Given the description of an element on the screen output the (x, y) to click on. 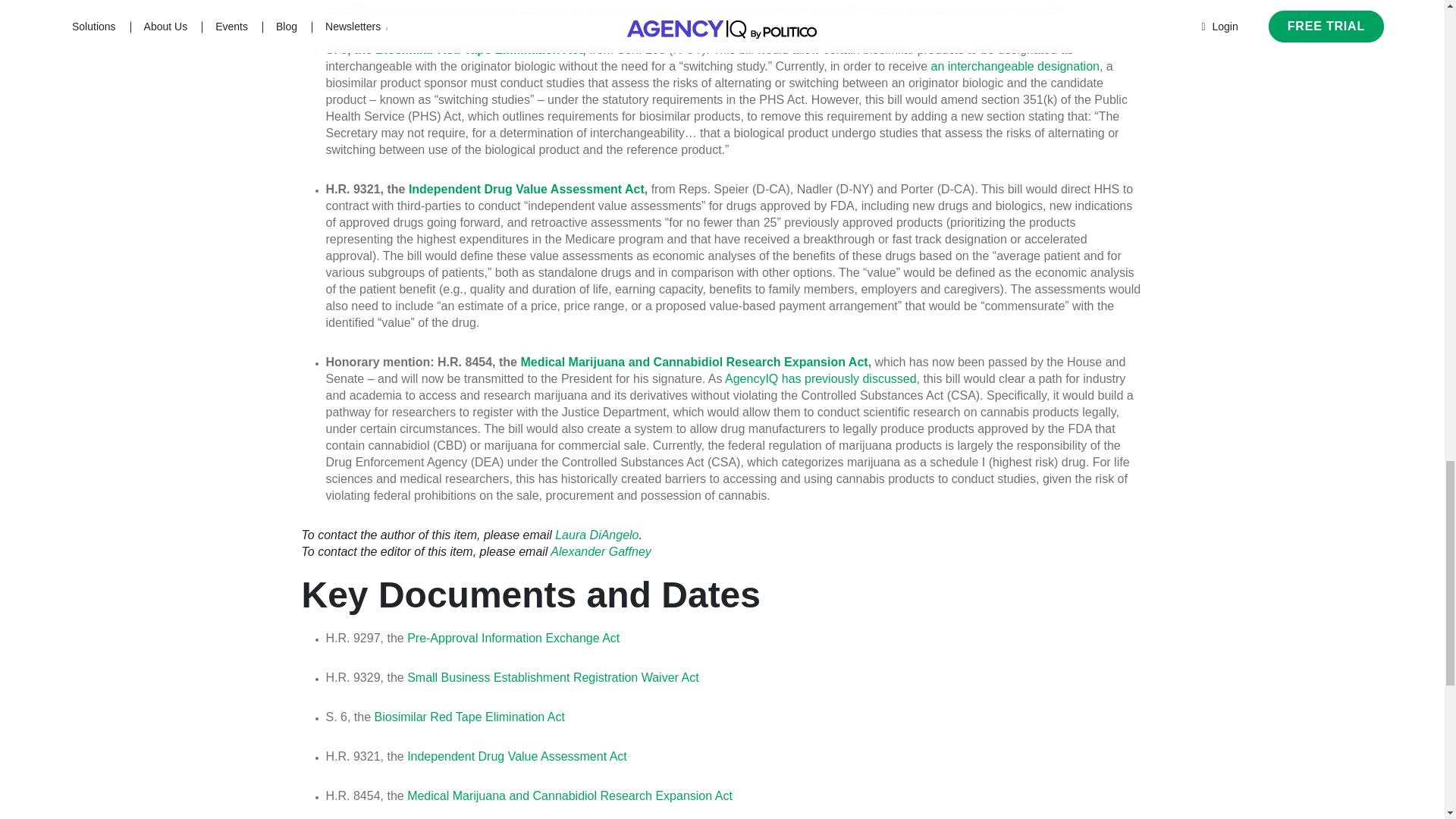
Independent Drug Value Assessment Act (527, 188)
AgencyIQ has previously discussed (821, 378)
Small Business Establishment Registration Waiver Act (552, 676)
Alexander Gaffney (600, 551)
Biosimilar Red Tape Elimination Act (478, 49)
Biosimilar Red Tape Elimination Act (469, 716)
Laura DiAngelo (596, 534)
Pre-Approval Information Exchange Act (513, 637)
Medical Marijuana and Cannabidiol Research Expansion Act (693, 361)
an interchangeable designation (1015, 65)
Medical Marijuana and Cannabidiol Research Expansion Act (569, 795)
Independent Drug Value Assessment Act (517, 756)
